Given the description of an element on the screen output the (x, y) to click on. 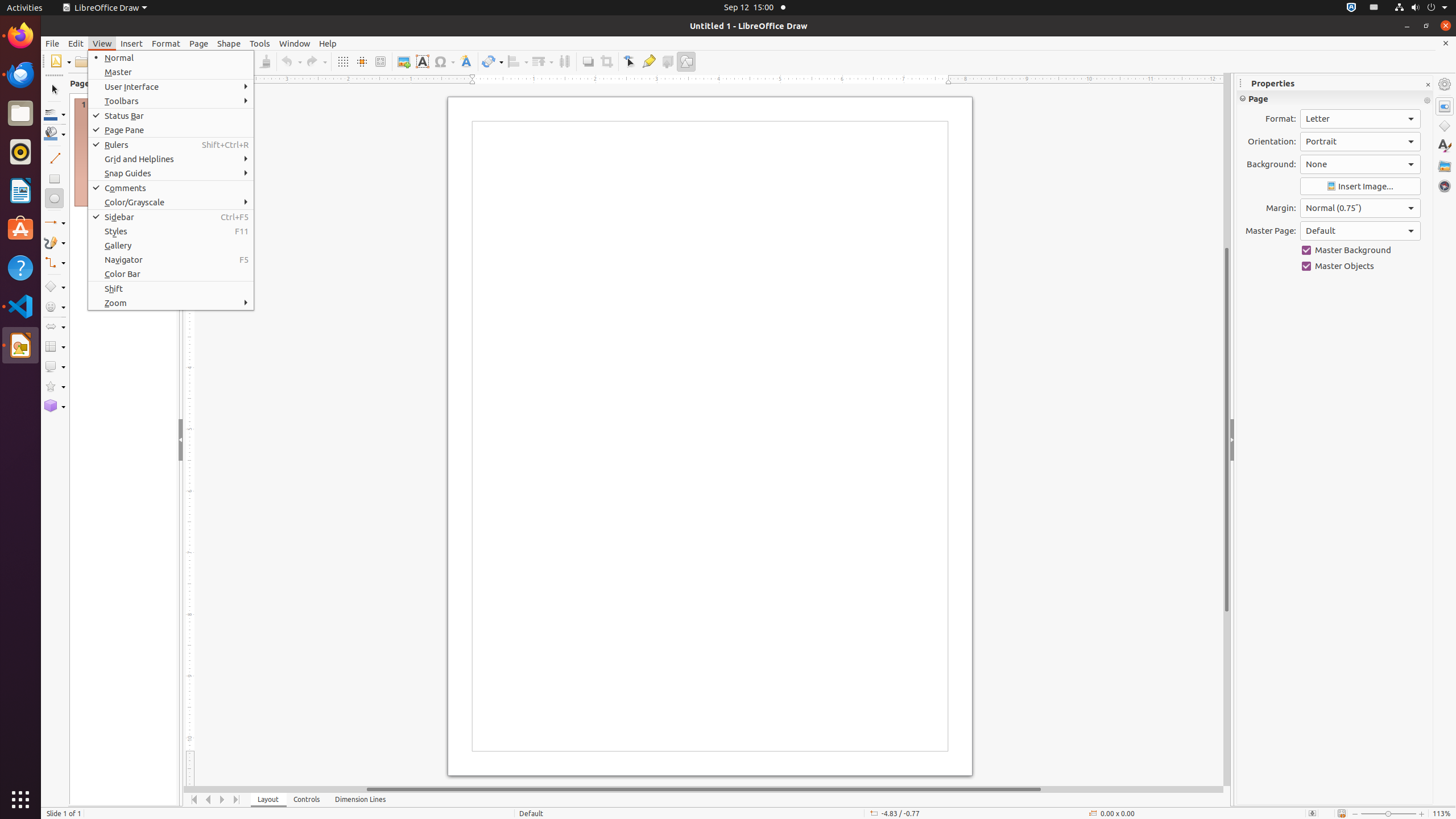
Master Element type: radio-menu-item (170, 71)
Color/Grayscale Element type: menu (170, 202)
Undo Element type: push-button (290, 61)
Edit Points Element type: push-button (629, 61)
Crop Element type: push-button (606, 61)
